Given the description of an element on the screen output the (x, y) to click on. 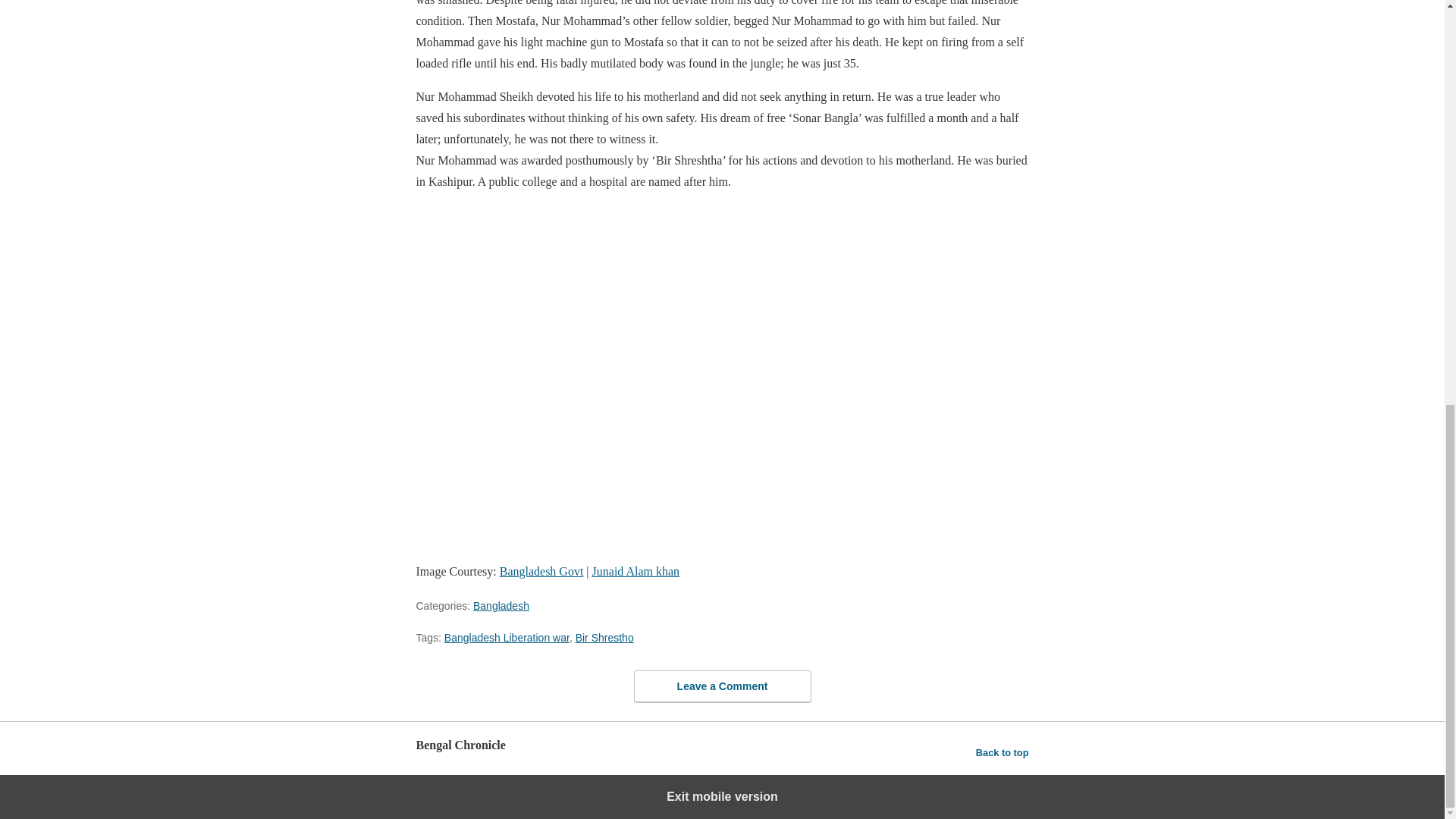
Leave a Comment (721, 686)
Bangladesh Govt (541, 571)
Junaid Alam khan (635, 571)
Back to top (1002, 752)
Bangladesh Liberation war (506, 637)
Bangladesh (501, 605)
Bir Shrestho (604, 637)
